Given the description of an element on the screen output the (x, y) to click on. 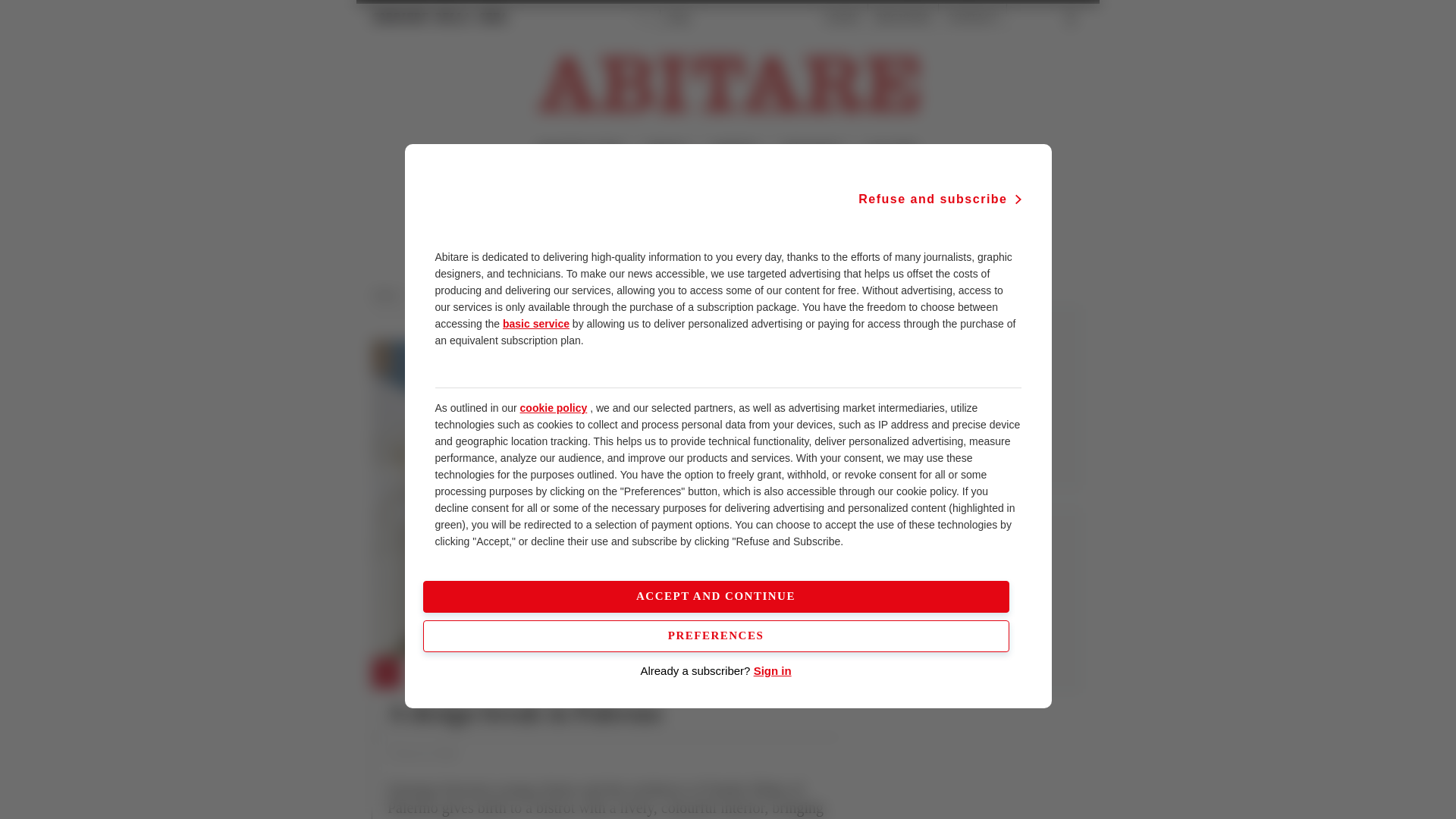
Il Corriere della Sera (439, 17)
DESIGN (666, 150)
ENG (679, 18)
LOGIN (842, 18)
Search (1035, 17)
Francesca Oddo (422, 753)
ITA (643, 18)
RESEARCH (812, 150)
Abitare (390, 294)
ARCHITECTURE (578, 150)
CONTACT (972, 18)
HABITAT (735, 150)
PROJECTS (439, 674)
GALLERY (890, 150)
Architecture (442, 294)
